Given the description of an element on the screen output the (x, y) to click on. 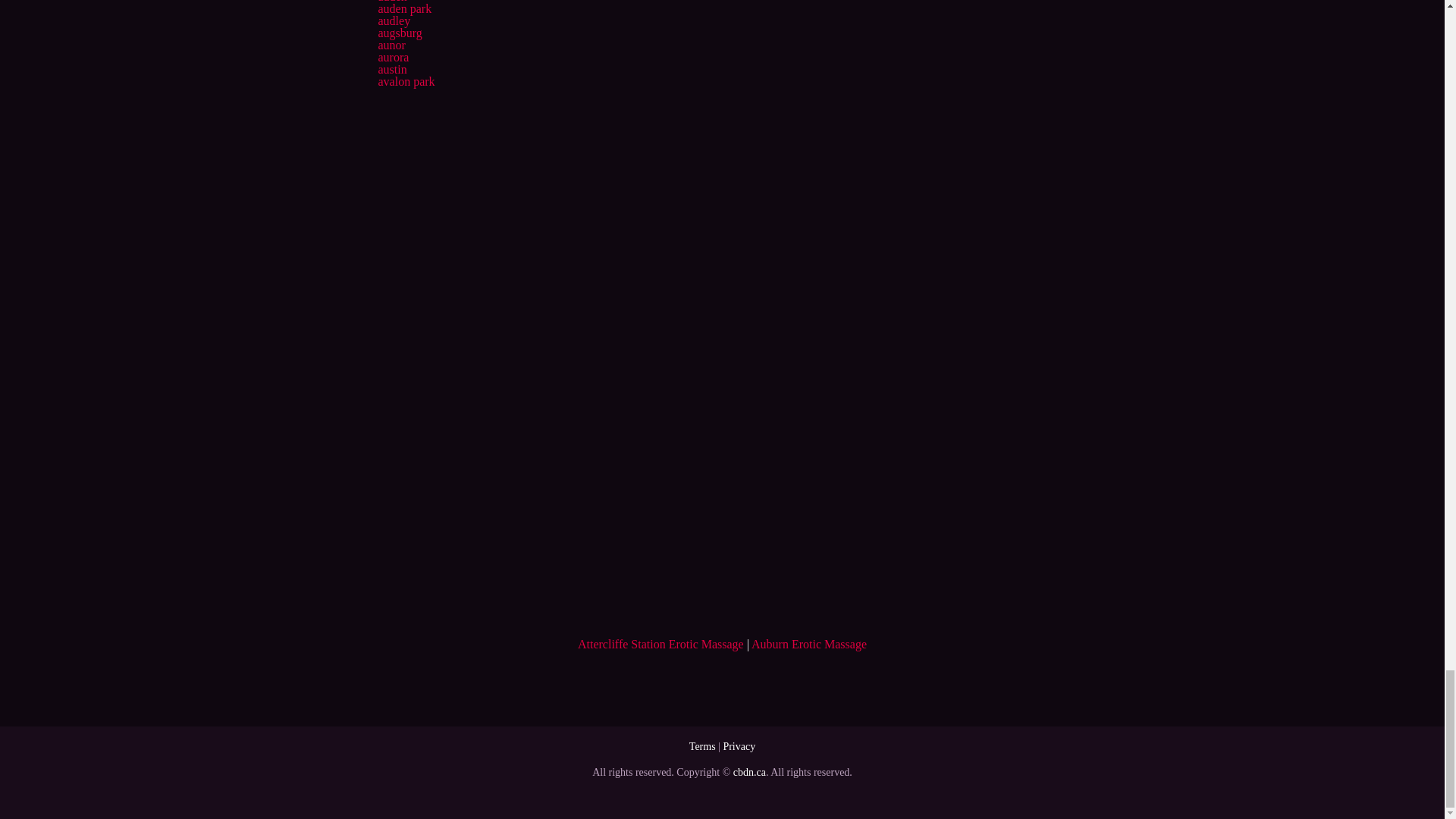
auden park (403, 8)
Privacy (738, 746)
aurora (393, 56)
cbdn.ca (749, 772)
augsburg (399, 32)
aunor (390, 44)
avalon park (405, 81)
Privacy (738, 746)
austin (391, 69)
auden (391, 1)
Terms (702, 746)
Auburn Erotic Massage (808, 644)
audley (393, 20)
Attercliffe Station Erotic Massage (661, 644)
Terms (702, 746)
